Given the description of an element on the screen output the (x, y) to click on. 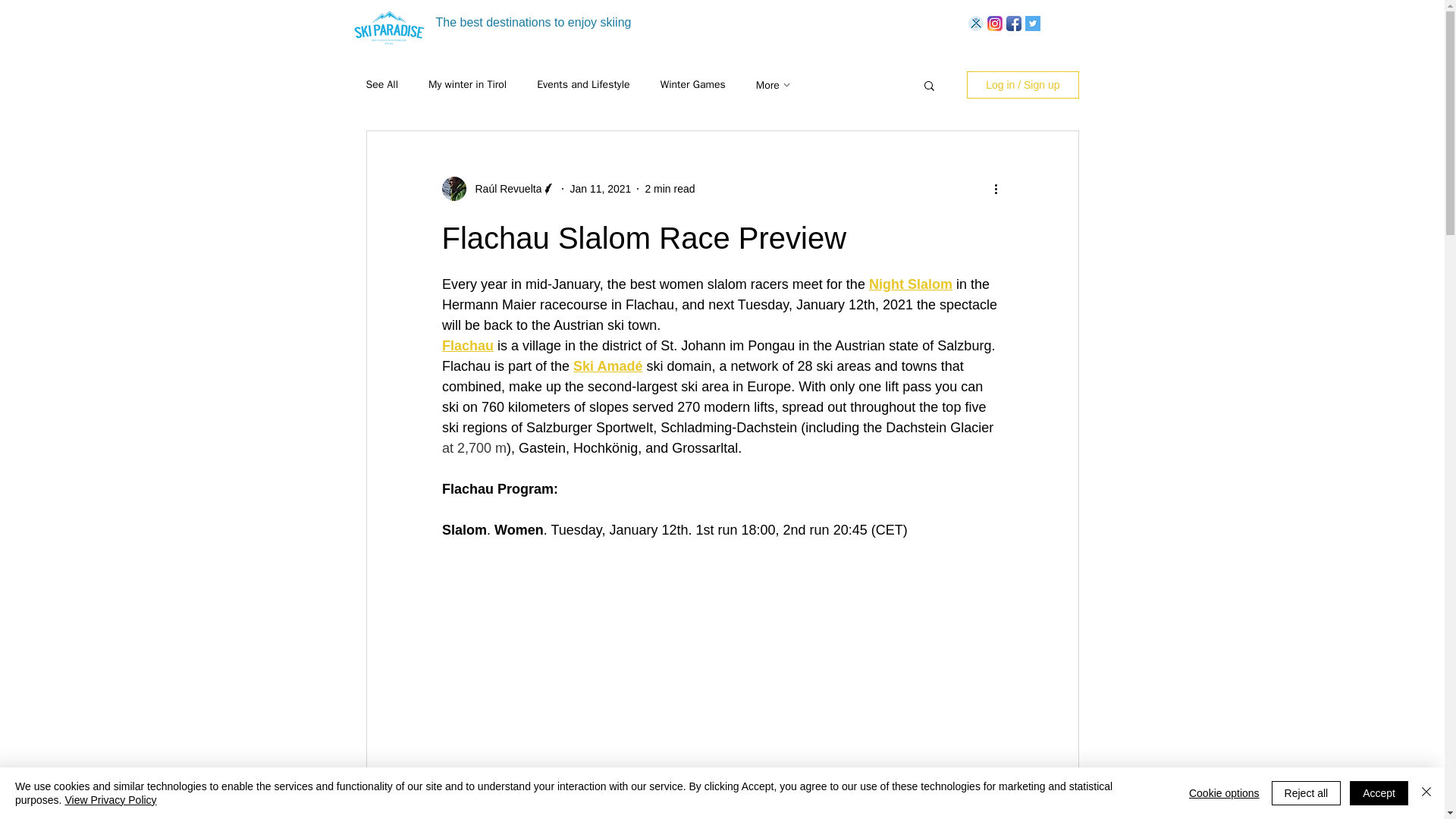
See All (381, 84)
Night Slalom (909, 283)
2 min read (669, 187)
Jan 11, 2021 (599, 187)
My winter in Tirol (467, 84)
Flachau (467, 345)
Events and Lifestyle (582, 84)
Winter Games (693, 84)
